Given the description of an element on the screen output the (x, y) to click on. 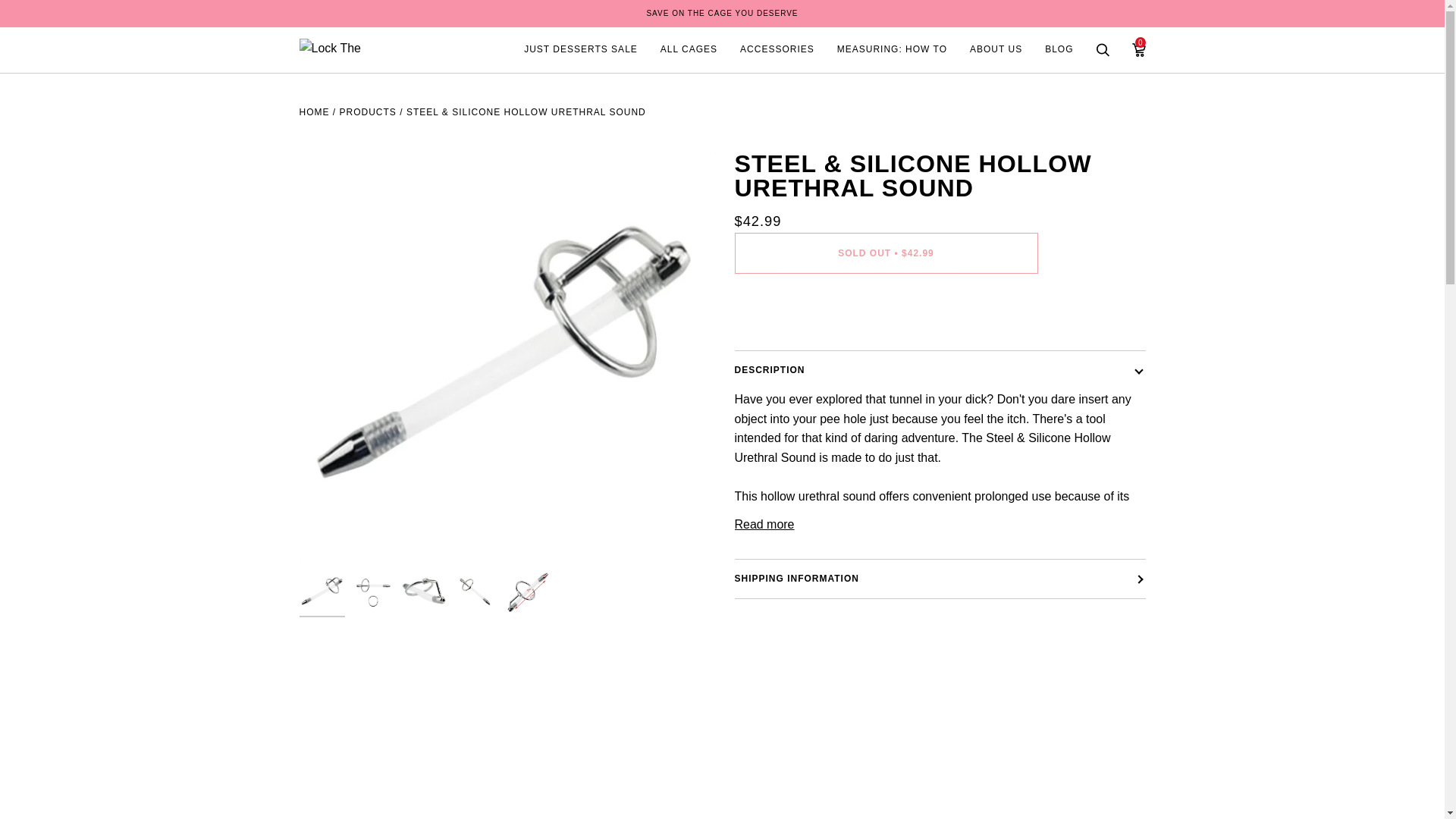
JUST DESSERTS SALE (580, 49)
MEASURING: HOW TO (891, 49)
ABOUT US (995, 49)
BLOG (1058, 49)
ACCESSORIES (777, 49)
ALL CAGES (689, 49)
SAVE ON THE CAGE YOU DESERVE (721, 13)
Back to the frontpage (313, 112)
